Given the description of an element on the screen output the (x, y) to click on. 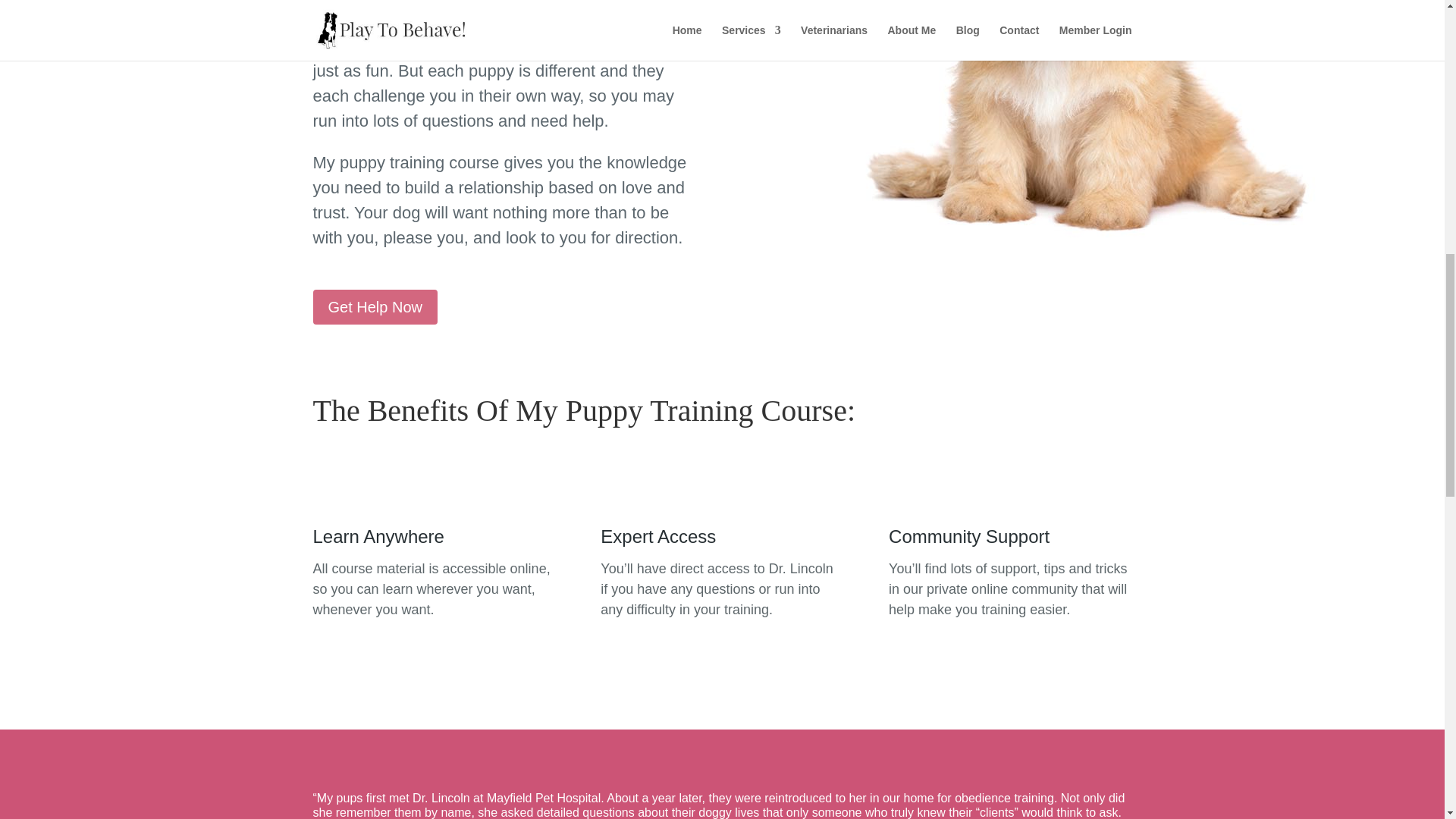
Get Help Now (375, 306)
Puppy Training Course for Busy People (1082, 130)
